Given the description of an element on the screen output the (x, y) to click on. 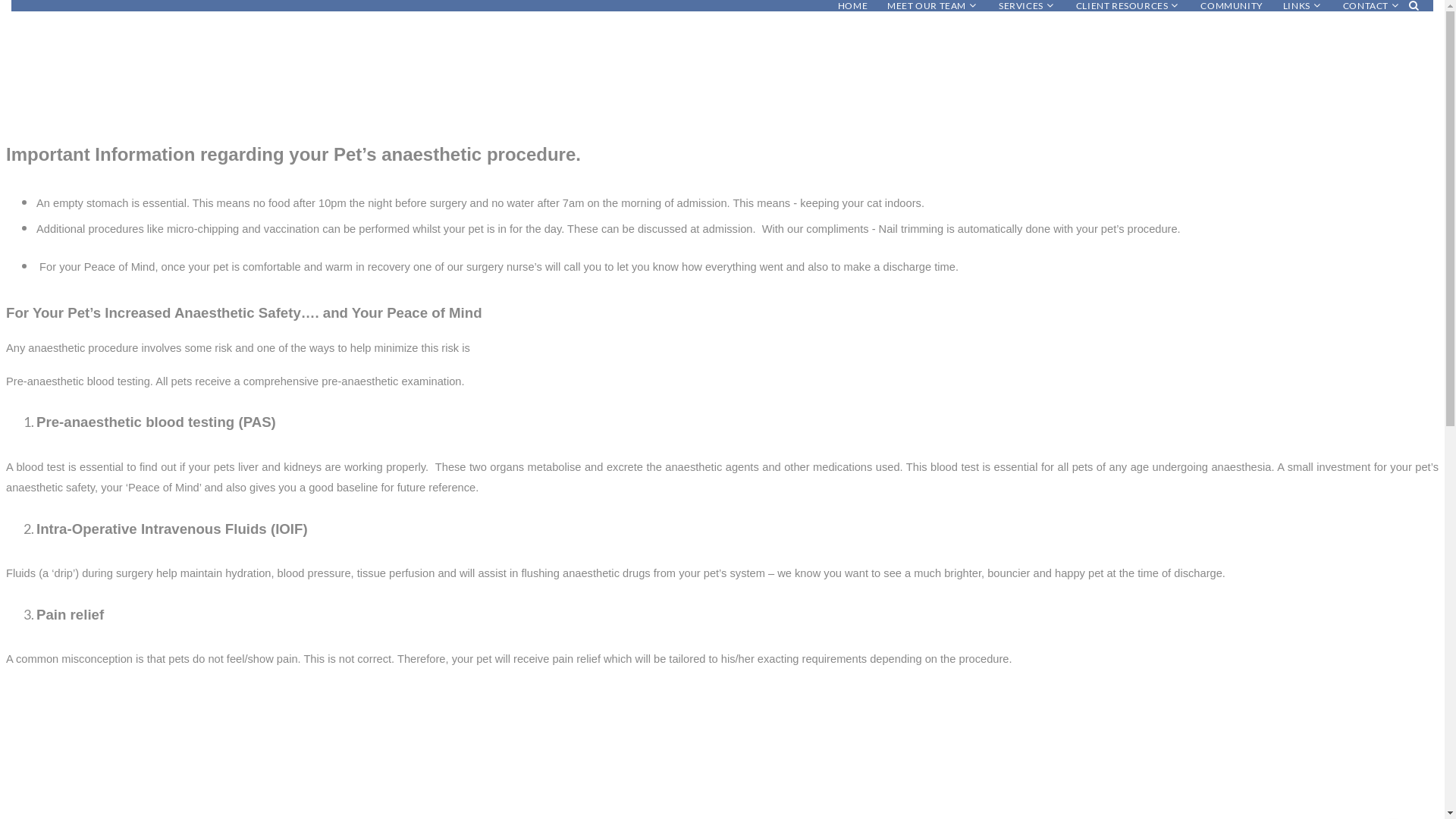
SERVICES Element type: text (1020, 5)
CLIENT RESOURCES Element type: text (1122, 5)
COMMUNITY Element type: text (1231, 5)
HOME Element type: text (852, 5)
MEET OUR TEAM Element type: text (926, 5)
LINKS Element type: text (1296, 5)
CONTACT Element type: text (1365, 5)
